Given the description of an element on the screen output the (x, y) to click on. 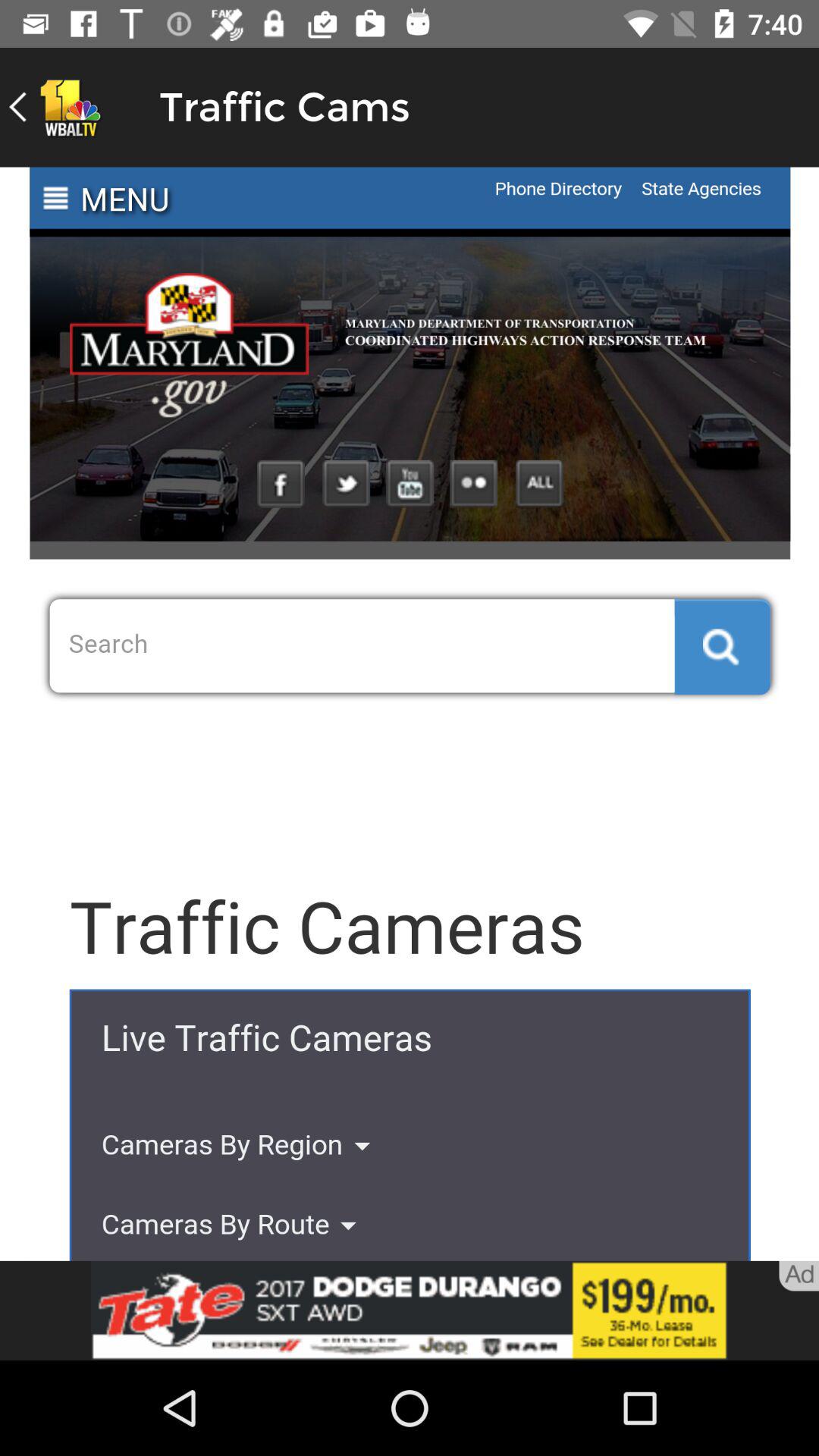
advertisement (409, 1310)
